Given the description of an element on the screen output the (x, y) to click on. 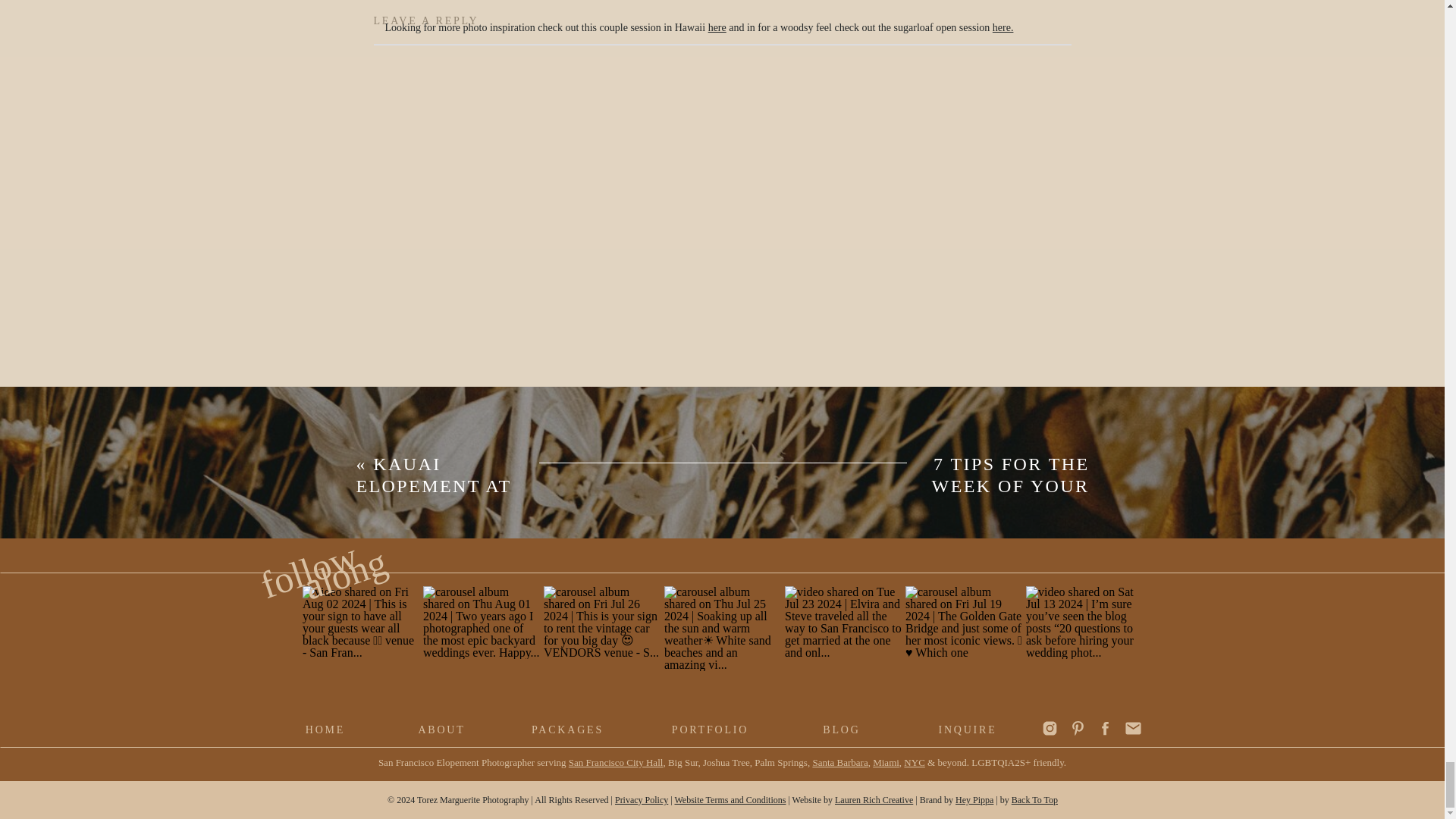
PORTFOLIO (709, 729)
BLOG (841, 729)
7 TIPS FOR THE WEEK OF YOUR WEDDING (1010, 485)
here (716, 27)
here. (1002, 27)
ABOUT (441, 729)
PACKAGES (567, 729)
INQUIRE (966, 729)
HOME (324, 729)
